Given the description of an element on the screen output the (x, y) to click on. 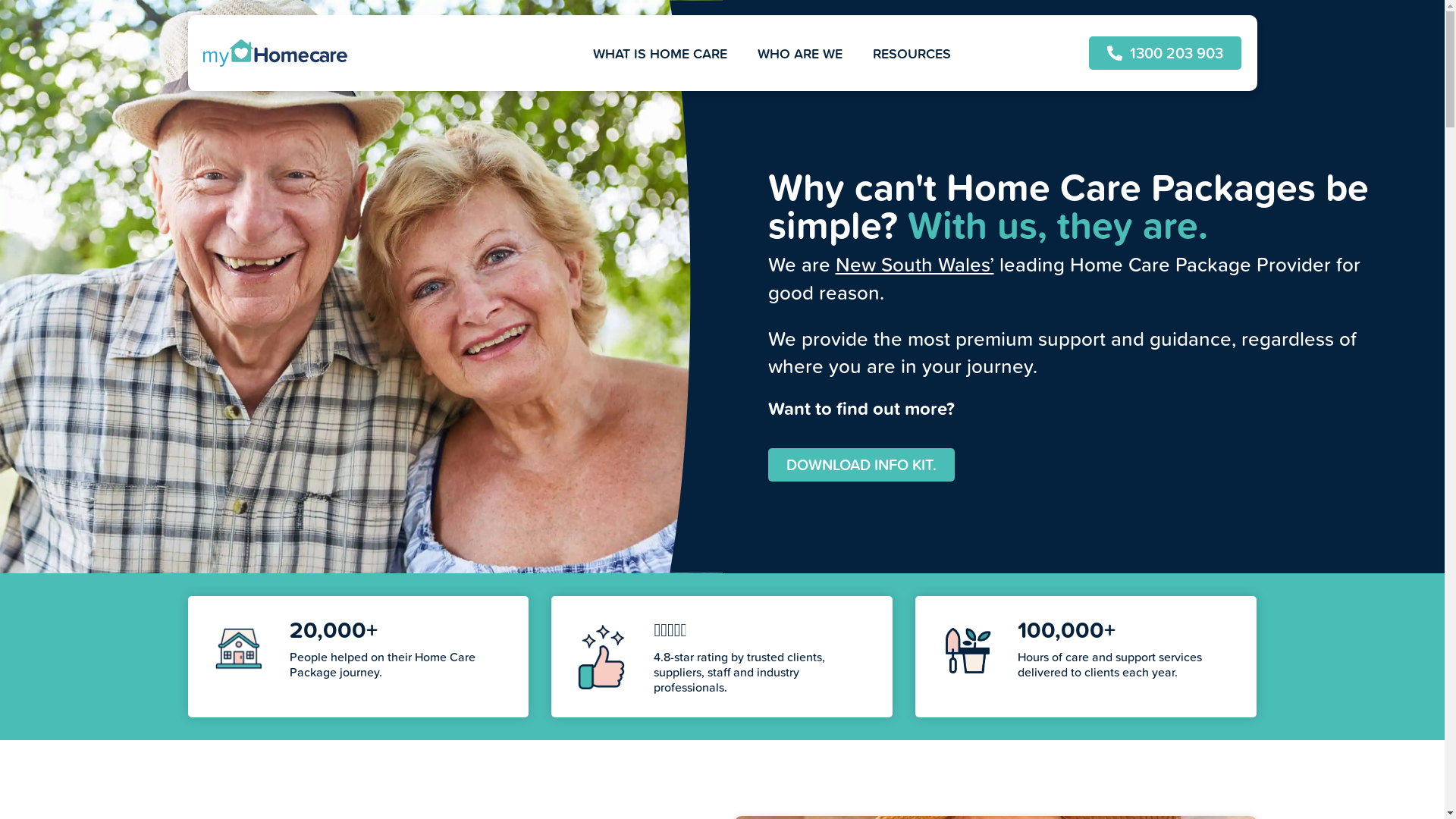
10000+ Element type: hover (238, 648)
WHAT IS HOME CARE Element type: text (660, 53)
Step 5 Element type: hover (966, 648)
1300 203 903 Element type: text (1164, 52)
DOWNLOAD INFO KIT. Element type: text (860, 464)
WHO ARE WE Element type: text (799, 53)
Star Rating Element type: hover (602, 656)
RESOURCES Element type: text (911, 53)
